Given the description of an element on the screen output the (x, y) to click on. 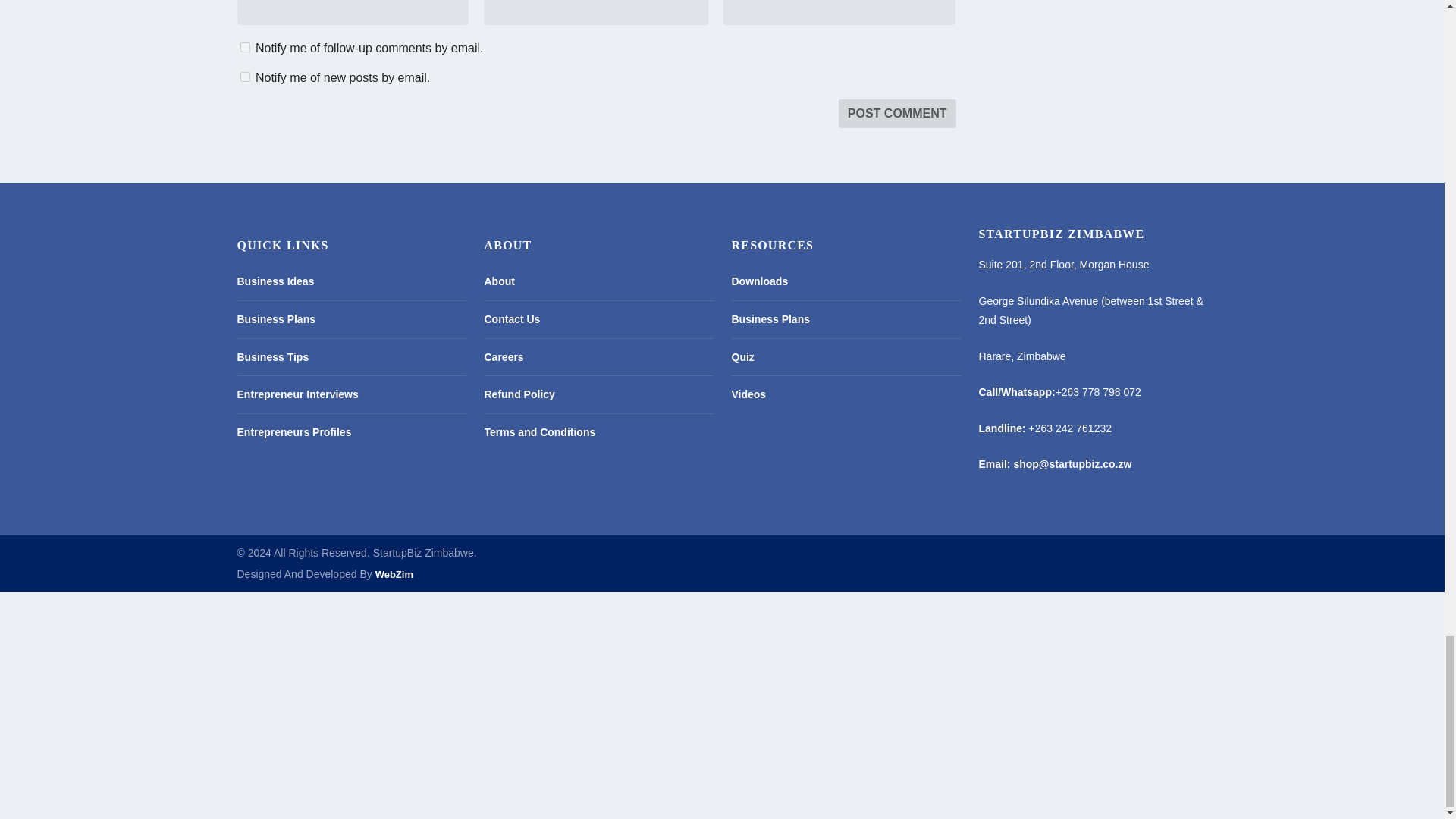
Post Comment (897, 113)
subscribe (244, 76)
subscribe (244, 47)
